Given the description of an element on the screen output the (x, y) to click on. 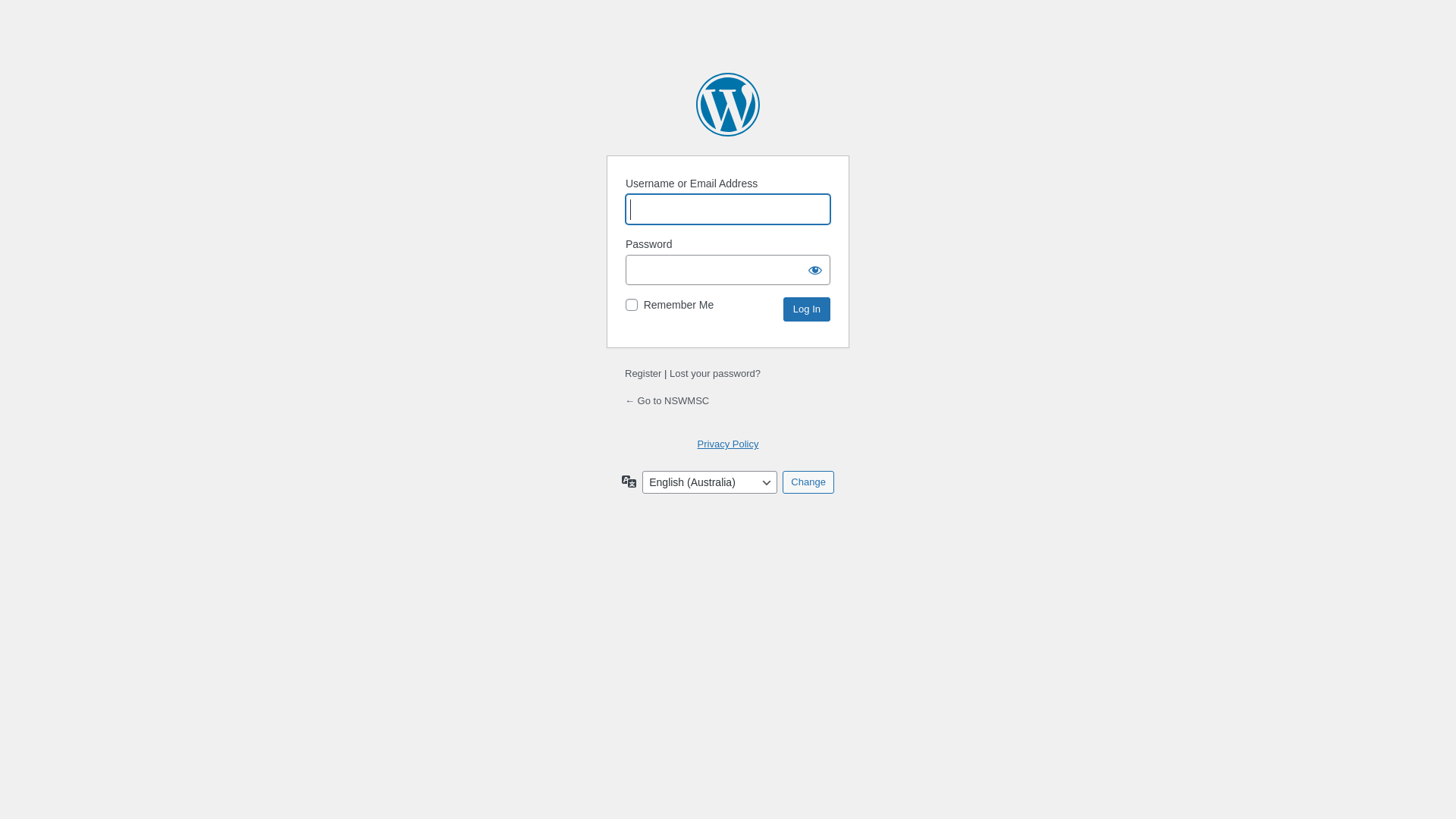
Change Element type: text (808, 481)
Powered by WordPress Element type: text (727, 104)
Privacy Policy Element type: text (728, 443)
Lost your password? Element type: text (714, 373)
Log In Element type: text (806, 309)
Register Element type: text (642, 373)
